Given the description of an element on the screen output the (x, y) to click on. 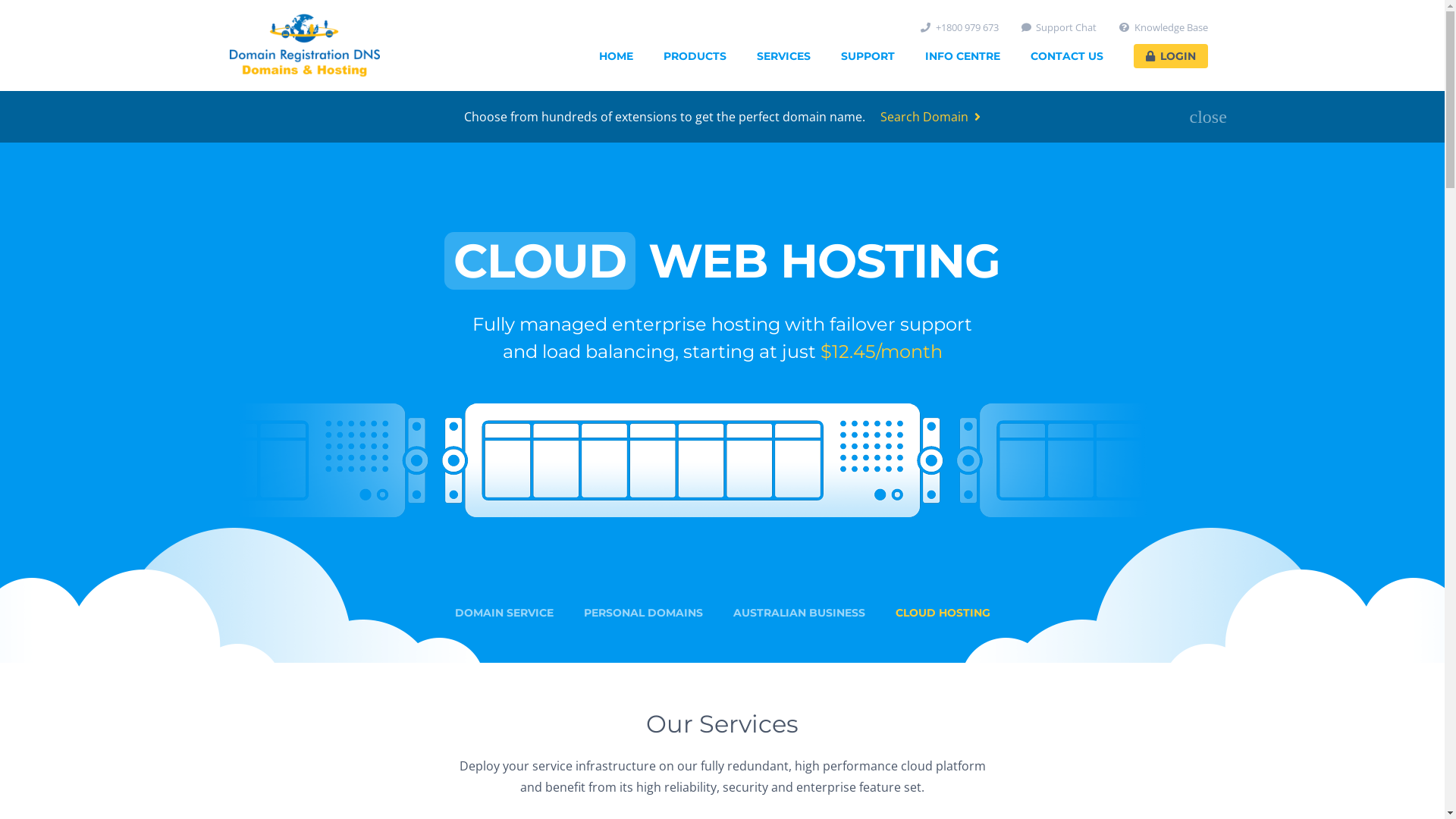
DOMAIN NAME REGISTRATION
Free Domain Name Management and DNS Element type: text (722, 402)
LOGIN Element type: text (1169, 55)
INFO CENTRE Element type: text (962, 55)
+1800 979 673 Element type: text (959, 27)
SERVICES Element type: text (783, 55)
HOME Element type: text (616, 55)
Search Domain Element type: text (930, 116)
Support Chat Element type: text (1058, 27)
SUPPORT Element type: text (867, 55)
Knowledge Base Element type: text (1163, 27)
CONTACT US Element type: text (1065, 55)
PRODUCTS Element type: text (693, 55)
